Given the description of an element on the screen output the (x, y) to click on. 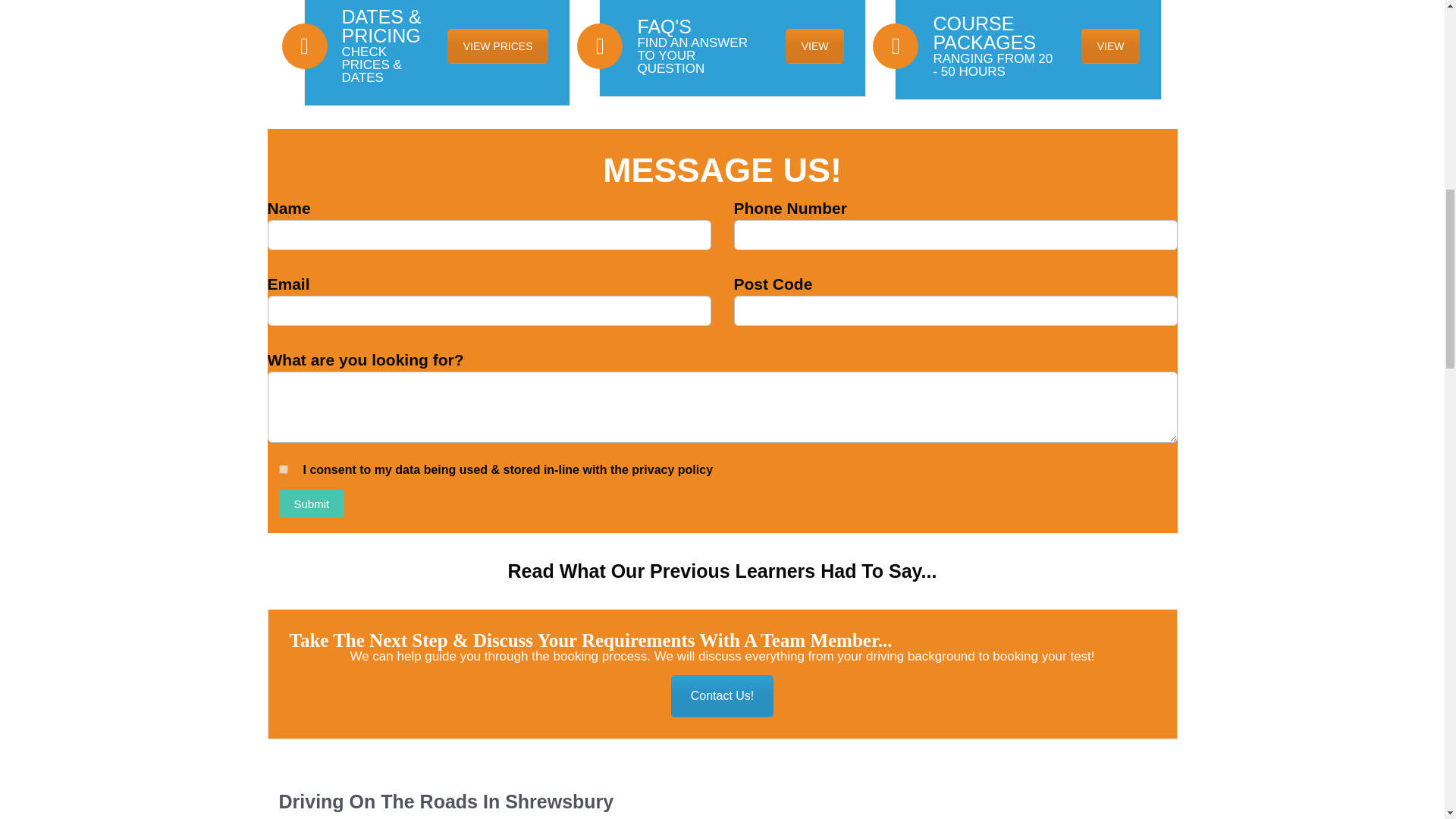
Submit (312, 503)
Contact (722, 695)
on (283, 469)
